Given the description of an element on the screen output the (x, y) to click on. 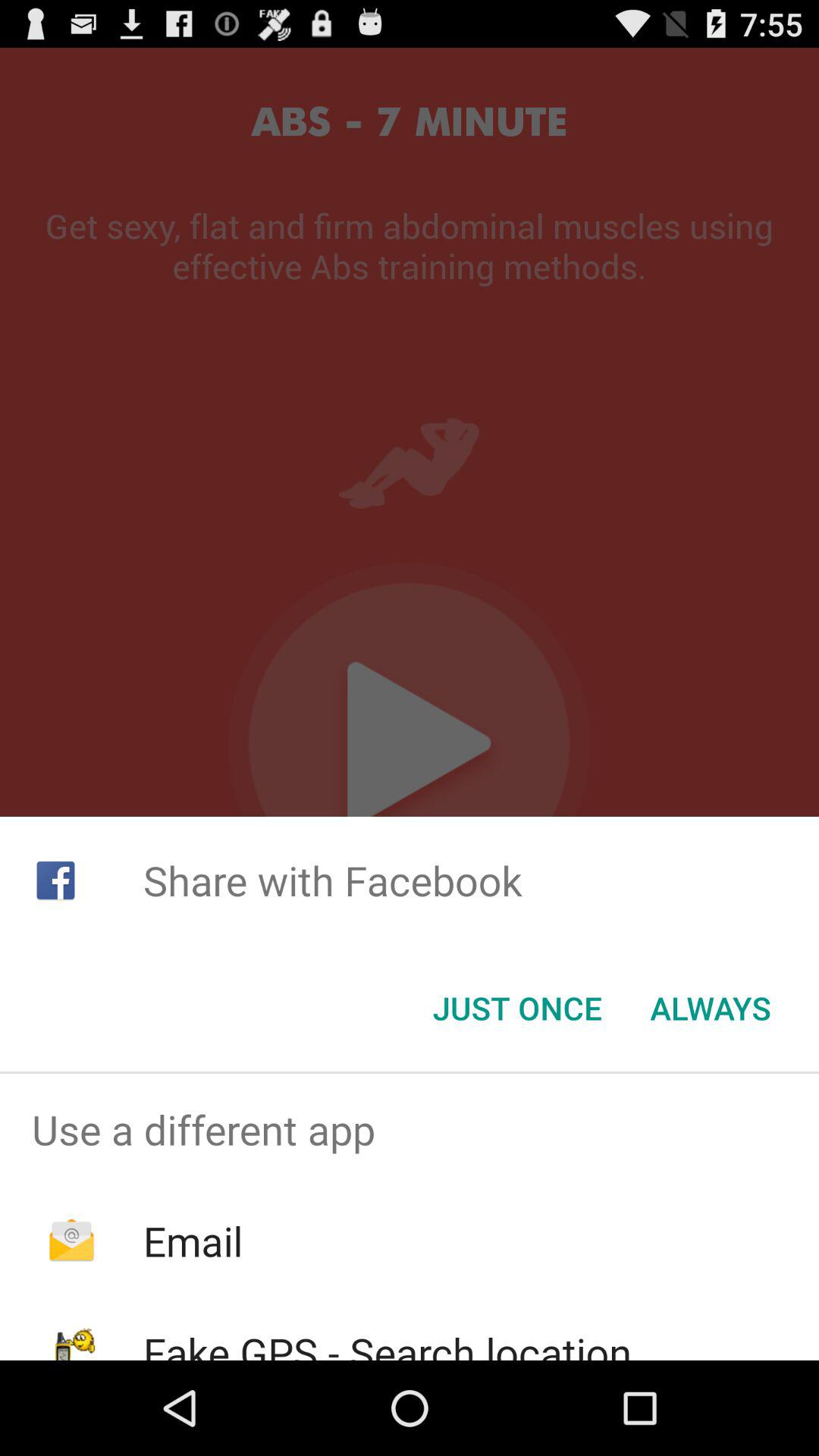
launch the always item (710, 1007)
